Given the description of an element on the screen output the (x, y) to click on. 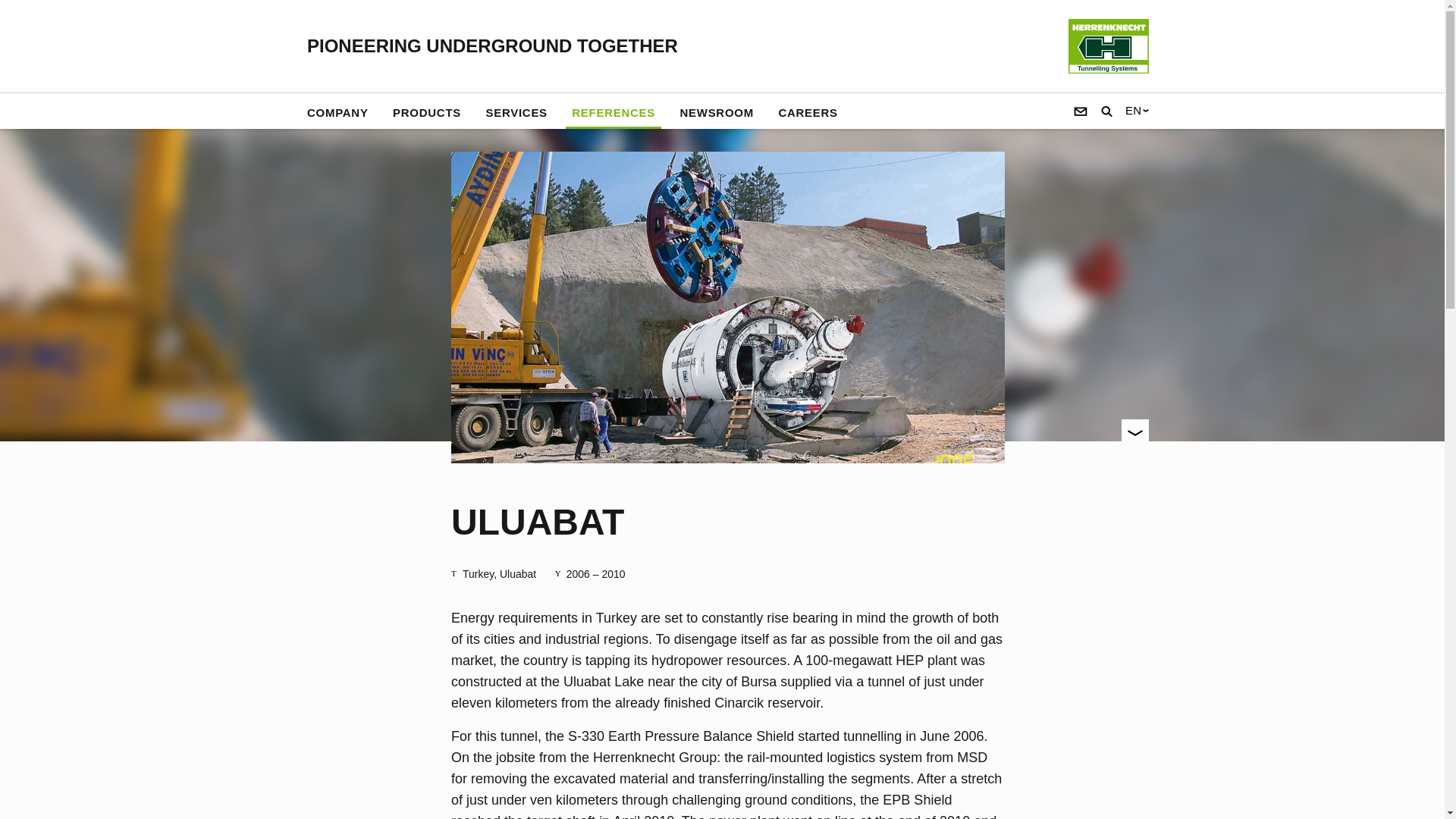
Open contact popup (1080, 110)
Open search (1106, 110)
